Given the description of an element on the screen output the (x, y) to click on. 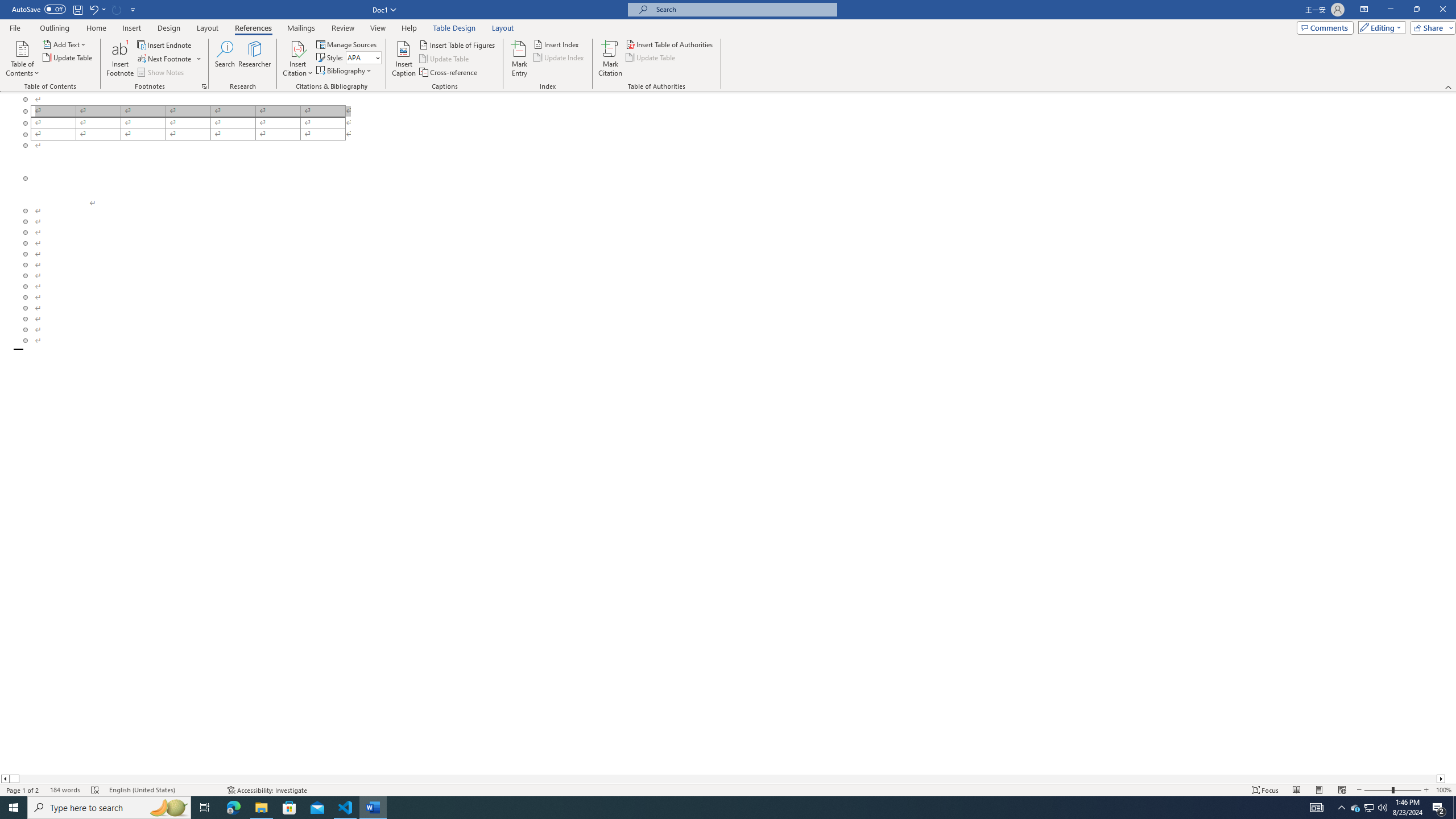
Next Footnote (165, 58)
Undo Outline Move Up (96, 9)
Mark Entry... (519, 58)
Update Index (559, 56)
